Given the description of an element on the screen output the (x, y) to click on. 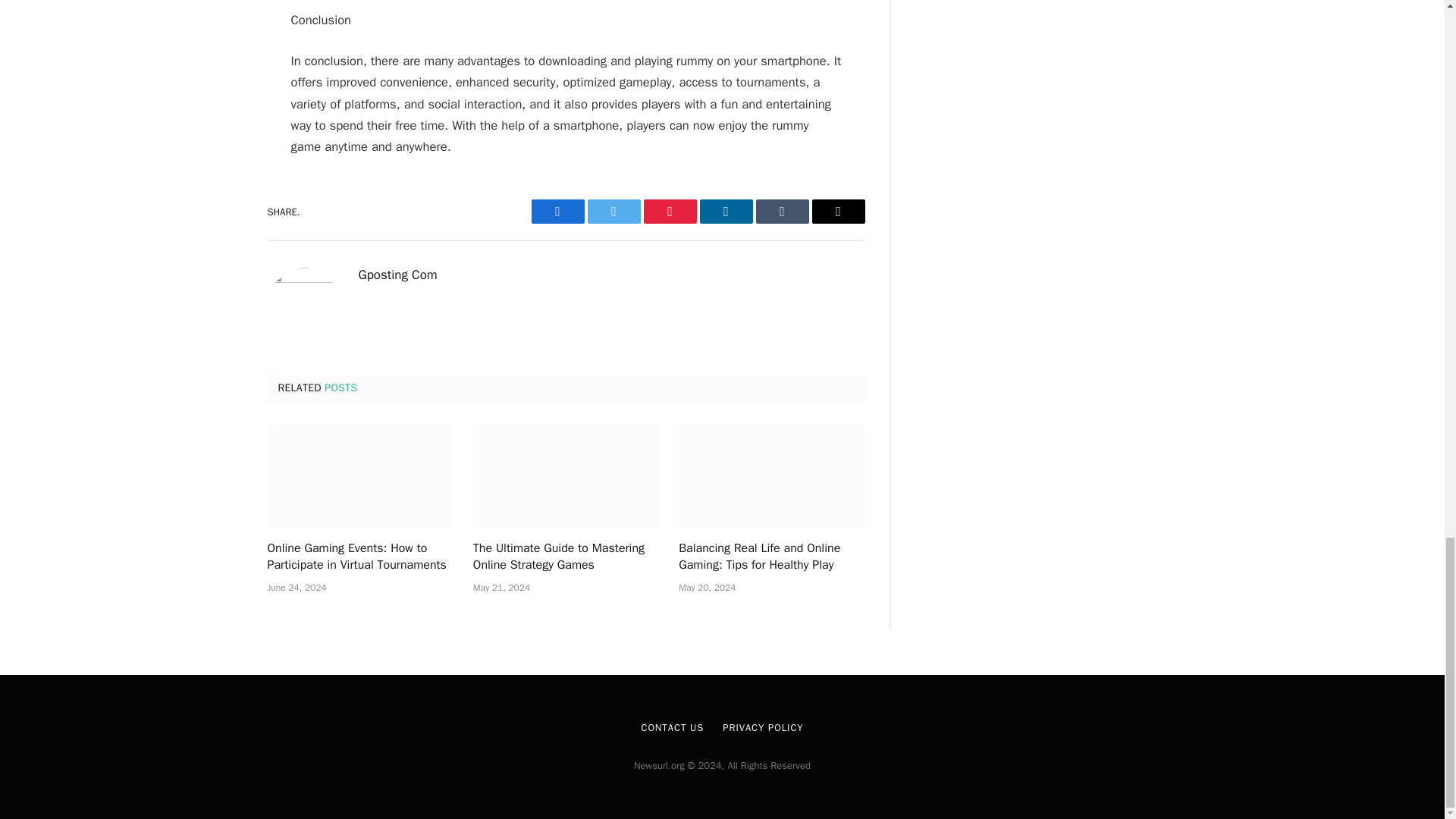
Pinterest (669, 211)
Facebook (557, 211)
Twitter (613, 211)
LinkedIn (725, 211)
